Given the description of an element on the screen output the (x, y) to click on. 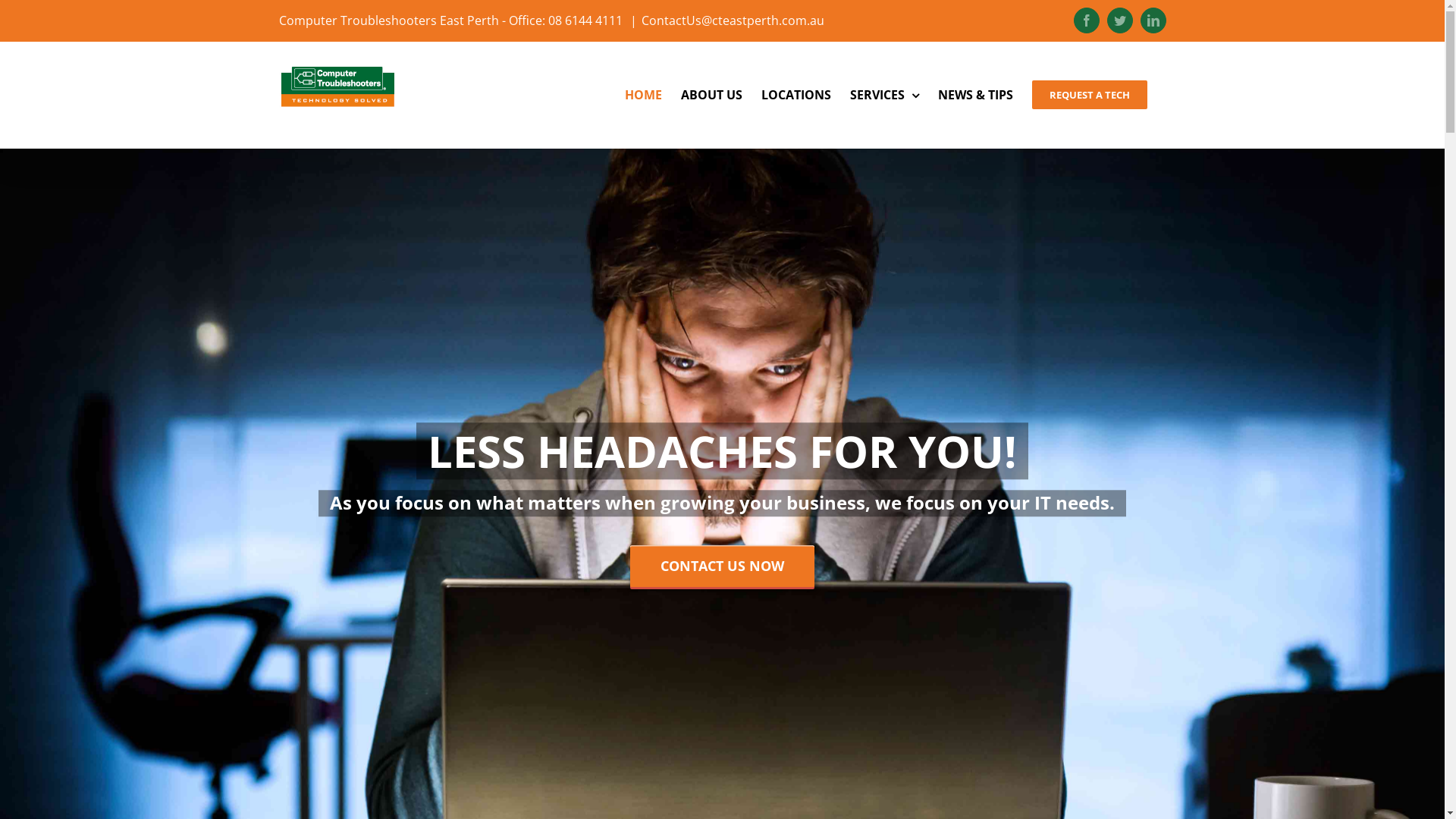
SERVICES Element type: text (883, 94)
LinkedIn Element type: text (1153, 20)
ContactUs@cteastperth.com.au Element type: text (732, 20)
HOME Element type: text (643, 94)
REQUEST A TECH Element type: text (1088, 94)
Twitter Element type: text (1119, 20)
LOCATIONS Element type: text (796, 94)
Facebook Element type: text (1086, 20)
NEWS & TIPS Element type: text (974, 94)
ABOUT US Element type: text (711, 94)
